Given the description of an element on the screen output the (x, y) to click on. 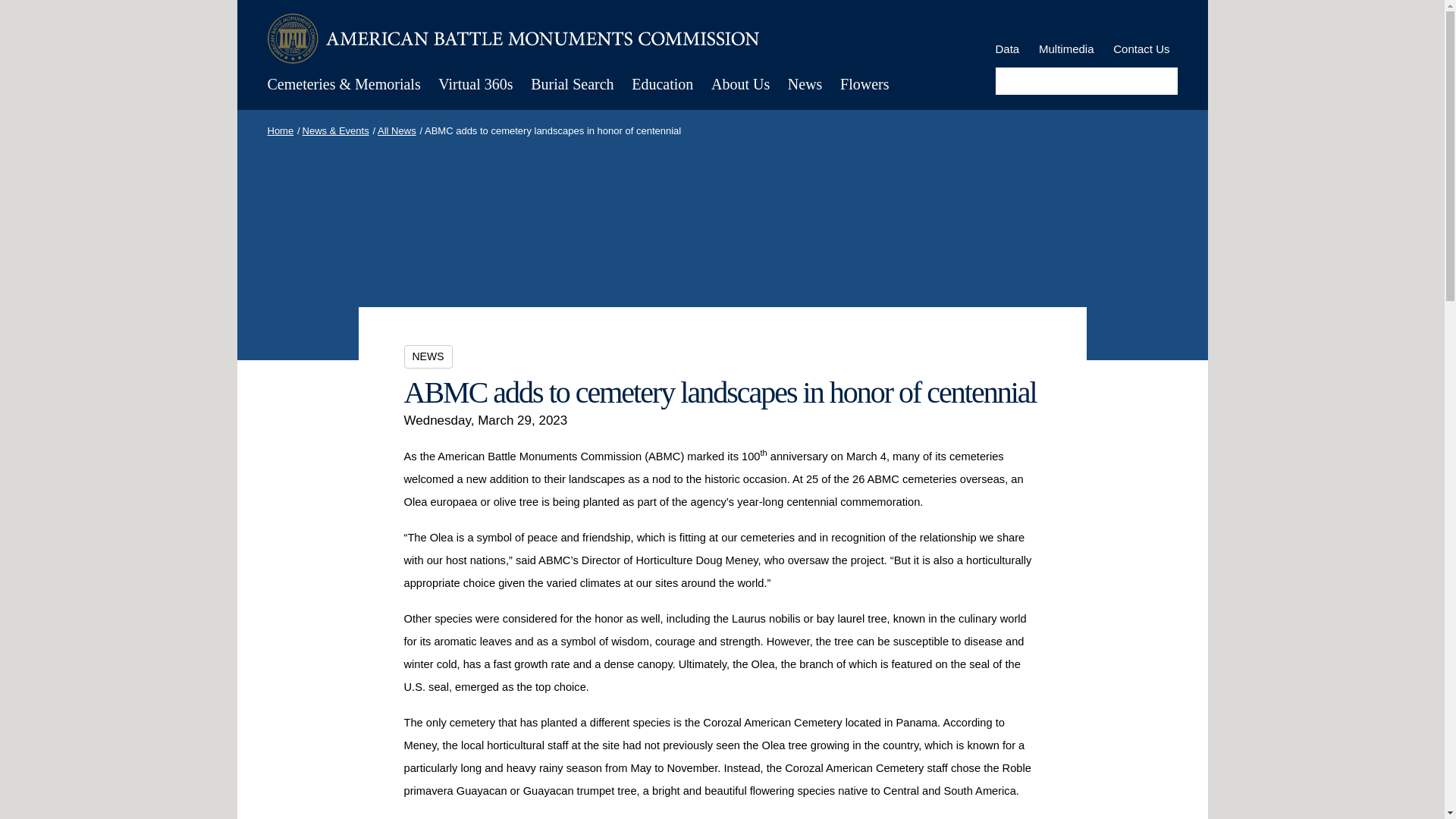
Education (662, 84)
Facebook (1080, 21)
Multimedia (1066, 48)
Flowers (864, 84)
Burial Search (571, 84)
Data (1006, 48)
Search (1161, 79)
About Us (740, 84)
Home (512, 38)
Twitter (1107, 22)
